Given the description of an element on the screen output the (x, y) to click on. 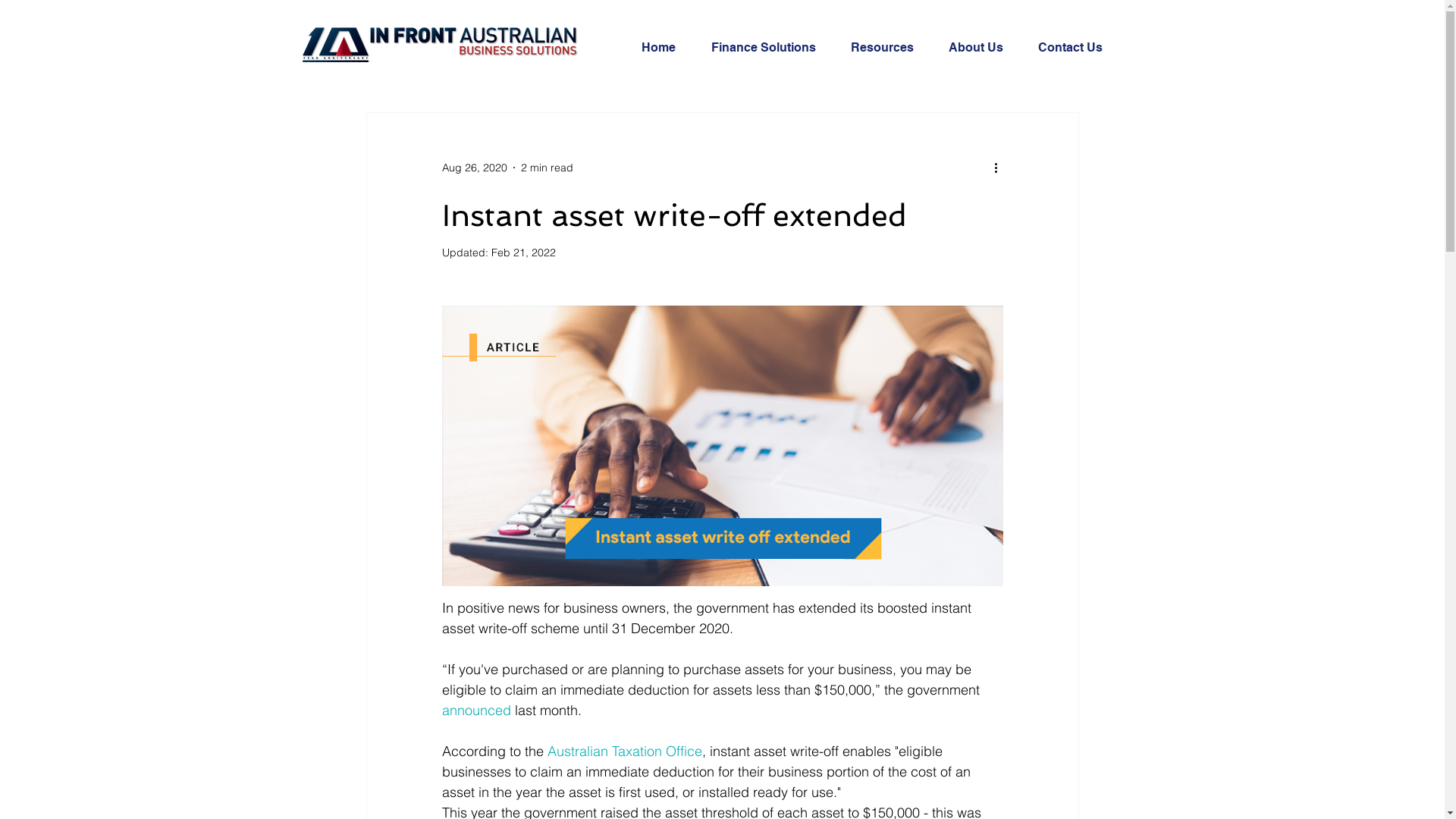
announced Element type: text (475, 709)
About Us Element type: text (981, 47)
Home Element type: text (664, 47)
Australian Taxation Office Element type: text (624, 750)
Contact Us Element type: text (1076, 47)
Finance Solutions Element type: text (768, 47)
Resources Element type: text (887, 47)
